Given the description of an element on the screen output the (x, y) to click on. 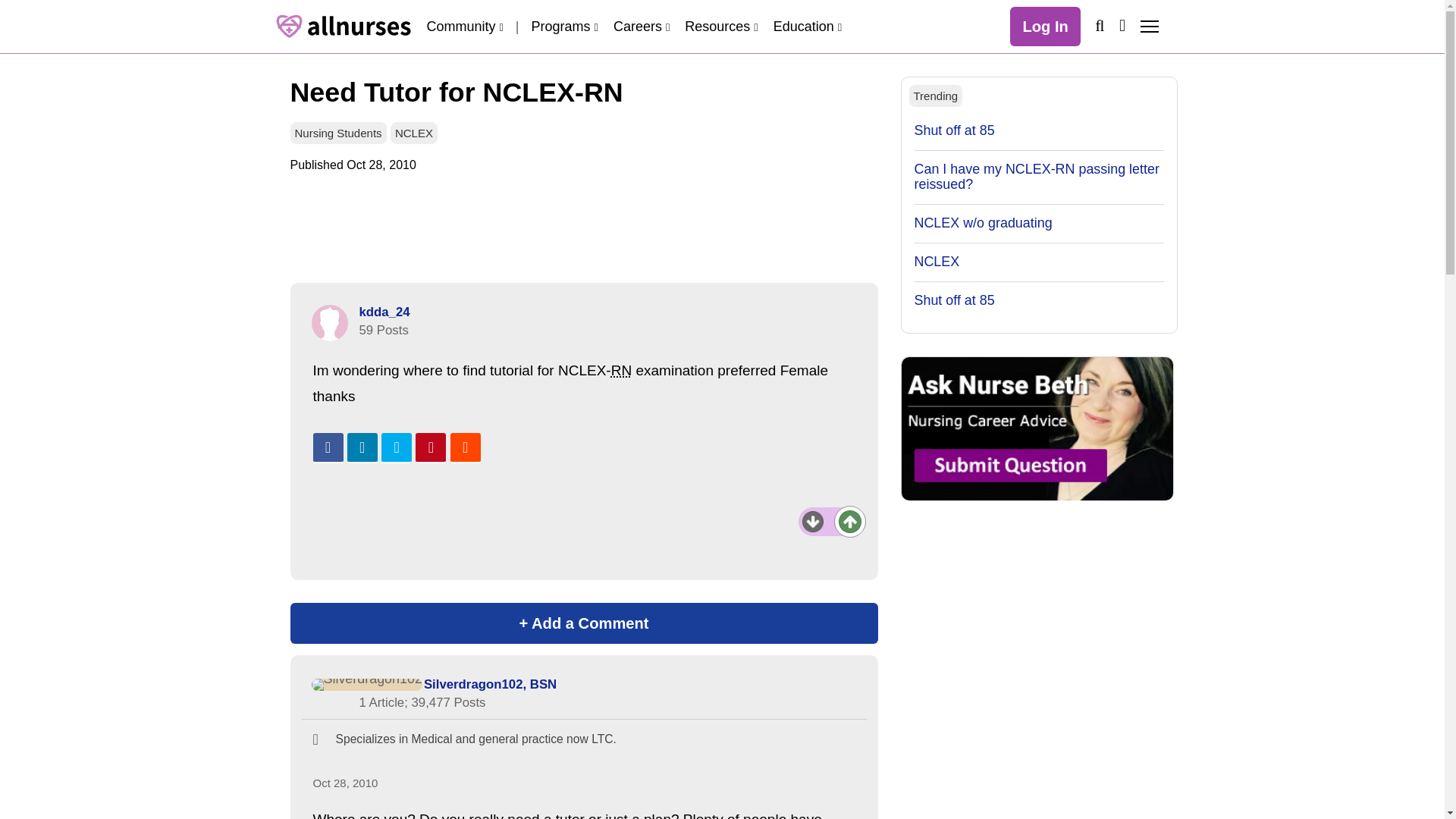
Registered Nurse (621, 370)
Share on LinkedIn (362, 448)
Down Vote (813, 521)
Share on Pinterest (429, 448)
Share on Twitter (396, 448)
Share on Reddit (464, 448)
Up-to-date information on nursing programs in the U.S. (564, 26)
Go to Silverdragon102's profile (489, 684)
